Given the description of an element on the screen output the (x, y) to click on. 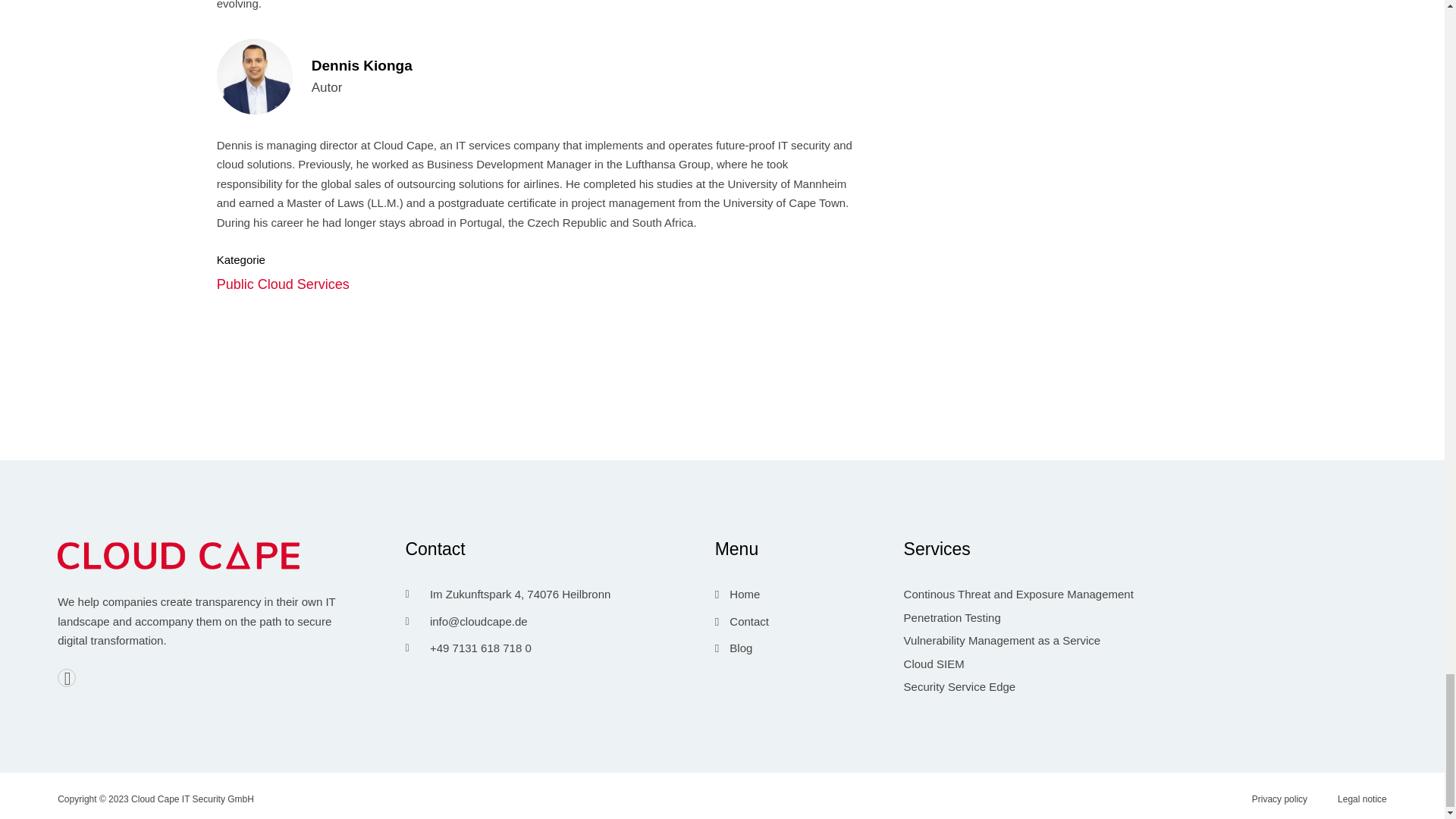
Public Cloud Services (534, 282)
Privacy policy (534, 79)
Kategorie (1287, 798)
Contact (805, 621)
Menu (534, 253)
Legal notice (555, 553)
